Given the description of an element on the screen output the (x, y) to click on. 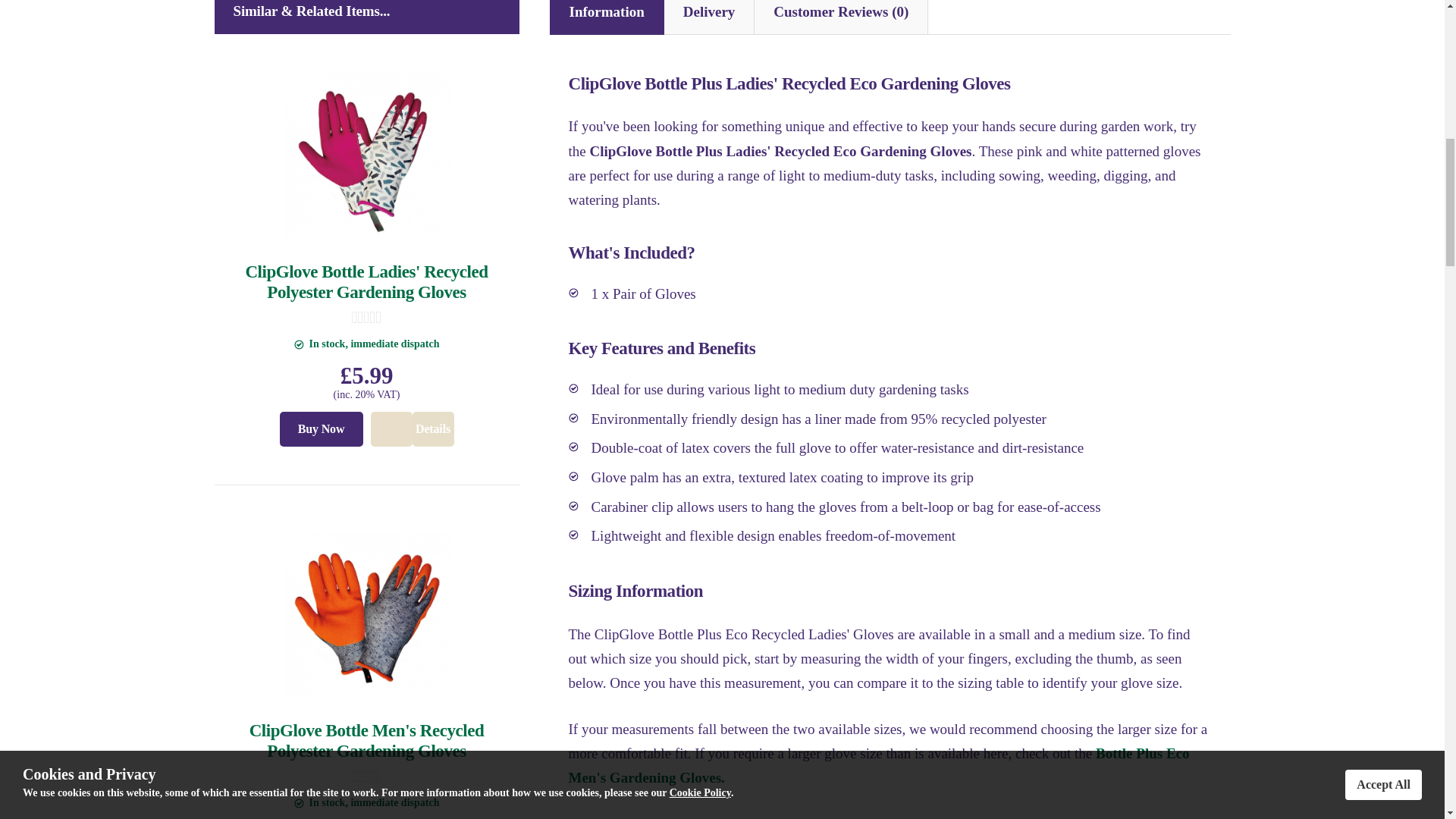
Full product details... (410, 428)
ClipGlove Bottle Ladies' Recycled Polyester Gardening Gloves (365, 282)
Buy Now (320, 428)
Not yet reviewed (365, 317)
In stock, immediate dispatch (299, 344)
Details (410, 428)
Buy Now (320, 428)
In stock, immediate dispatch (299, 803)
Details (433, 428)
Not yet reviewed (365, 776)
